Given the description of an element on the screen output the (x, y) to click on. 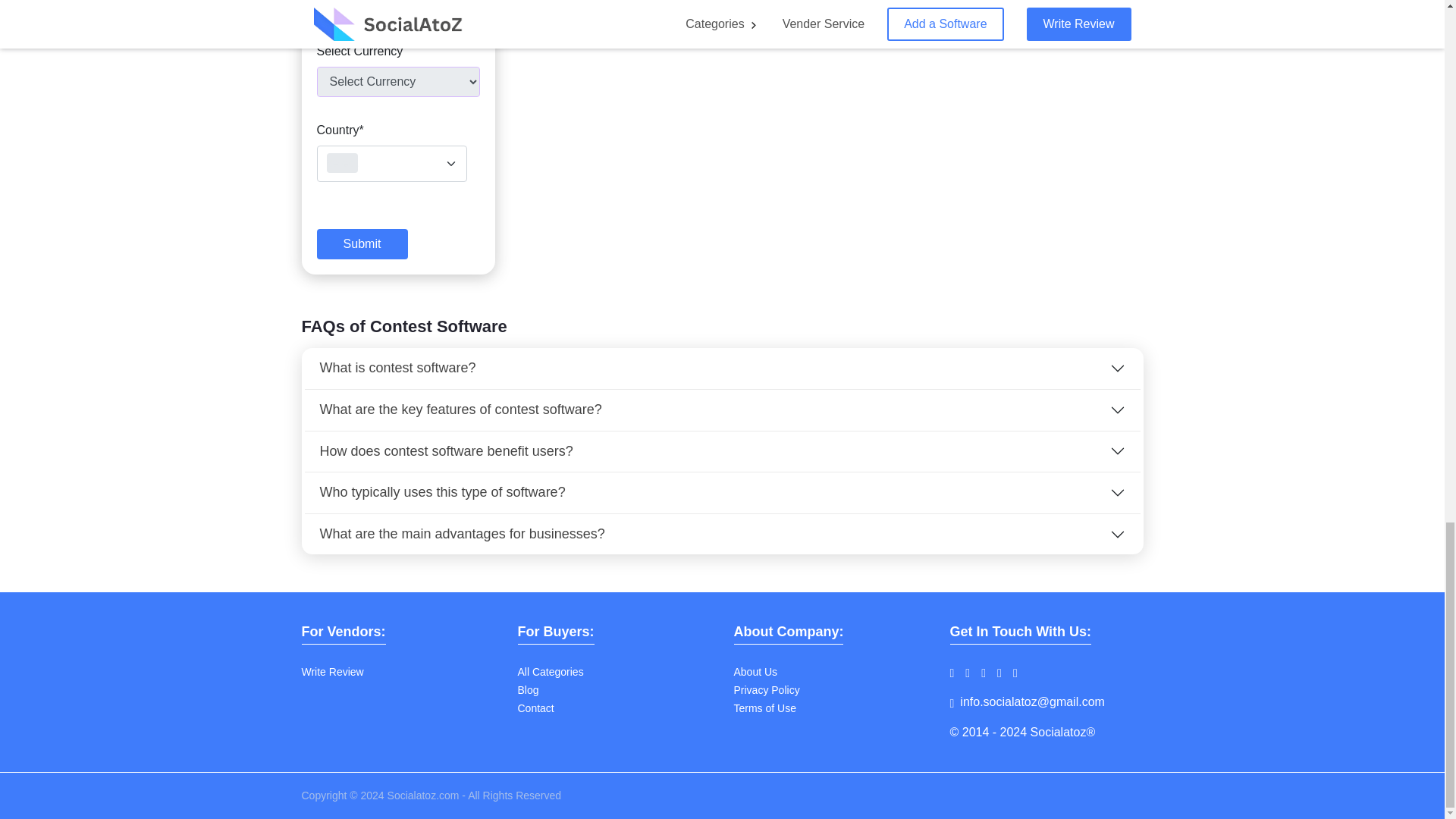
All Categories (549, 671)
What are the main advantages for businesses? (722, 534)
Privacy Policy (766, 689)
What are the key features of contest software? (722, 409)
Blog (527, 689)
What is contest software? (722, 368)
Submit (362, 244)
Who typically uses this type of software? (722, 492)
How does contest software benefit users? (722, 451)
About Us (755, 671)
Write Review (332, 671)
Terms of Use (764, 707)
Contact (534, 707)
